Given the description of an element on the screen output the (x, y) to click on. 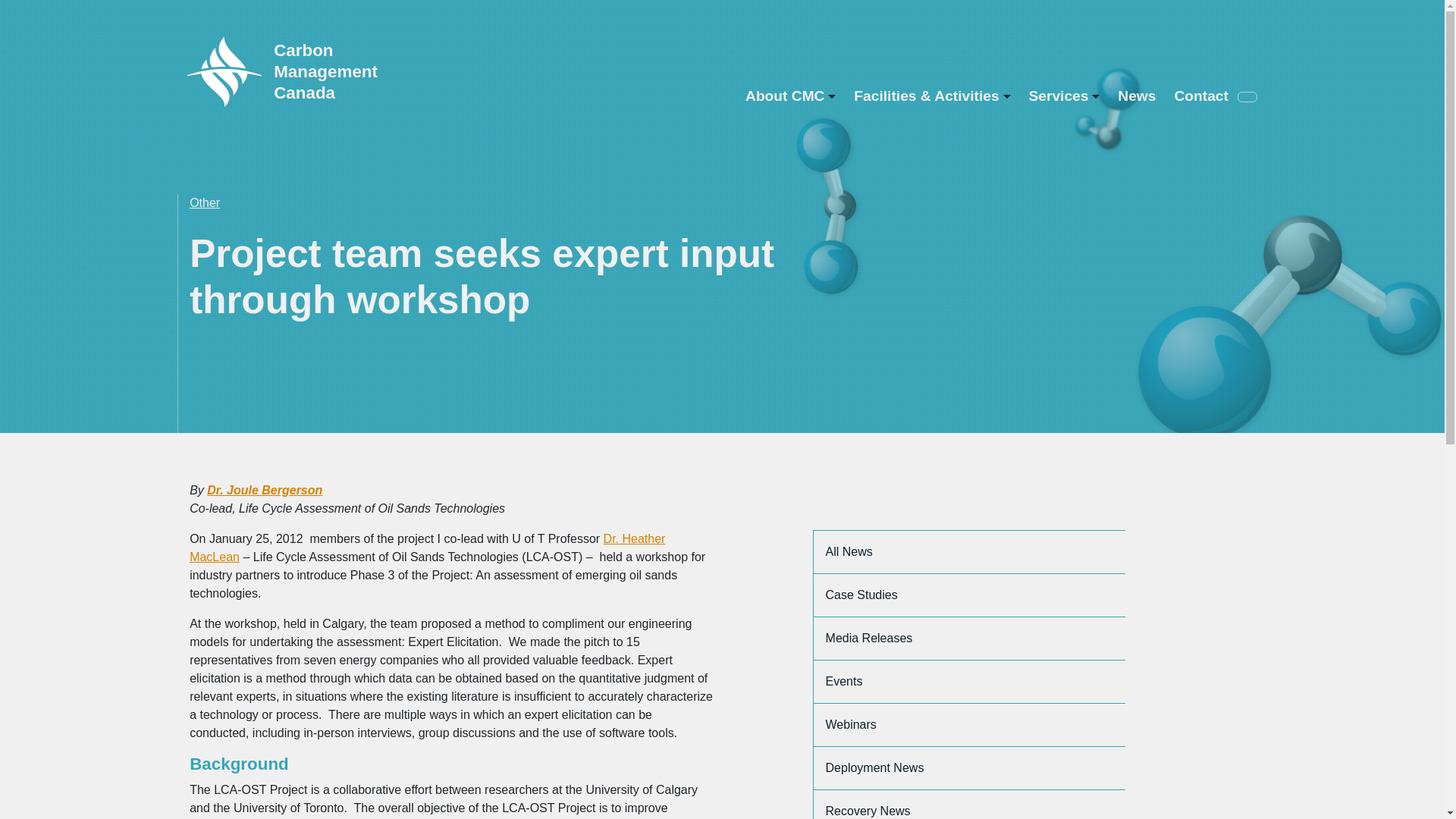
About CMC (790, 96)
Services (1063, 96)
Media Releases (969, 638)
Case Studies (969, 595)
All News (969, 552)
News (1136, 96)
Dr. Joule Bergerson (263, 490)
Carbon Management Canada (361, 71)
About CMC (790, 96)
Dr. Heather MacLean (427, 547)
